Given the description of an element on the screen output the (x, y) to click on. 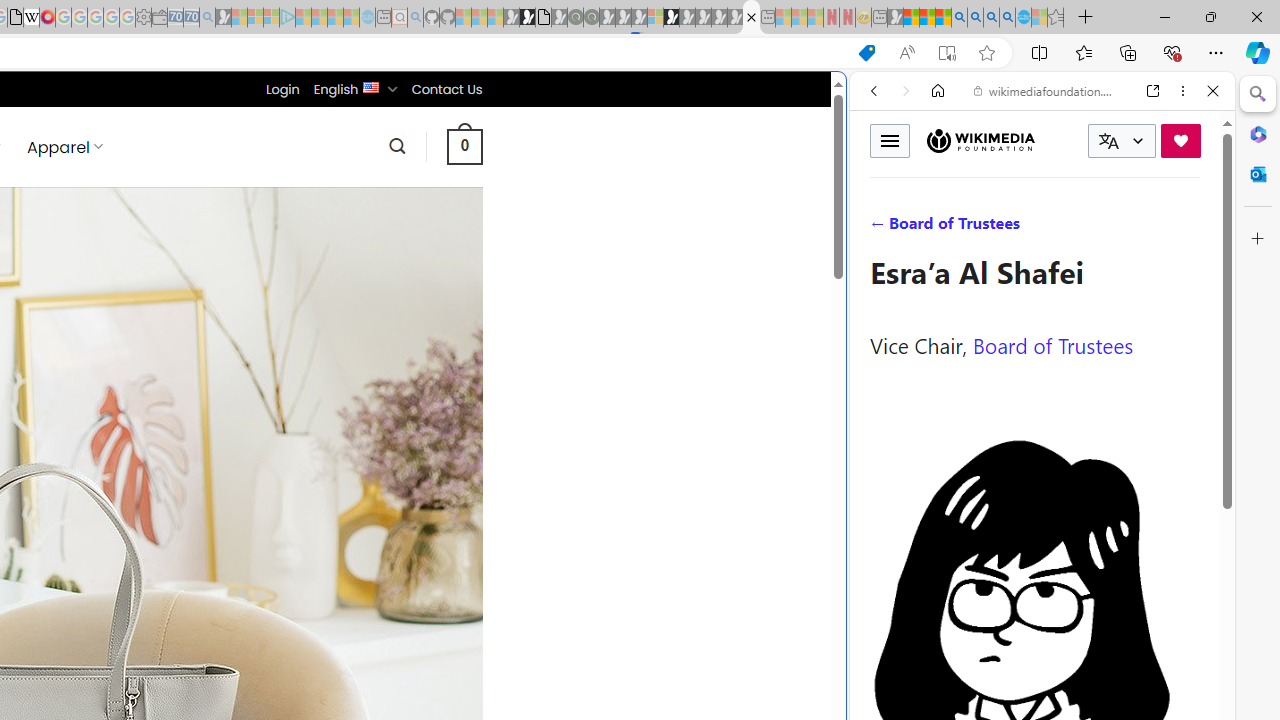
Contact Us (446, 89)
Services - Maintenance | Sky Blue Bikes - Sky Blue Bikes (1023, 17)
Toggle menu (890, 140)
Search Filter, Search Tools (1093, 228)
